Given the description of an element on the screen output the (x, y) to click on. 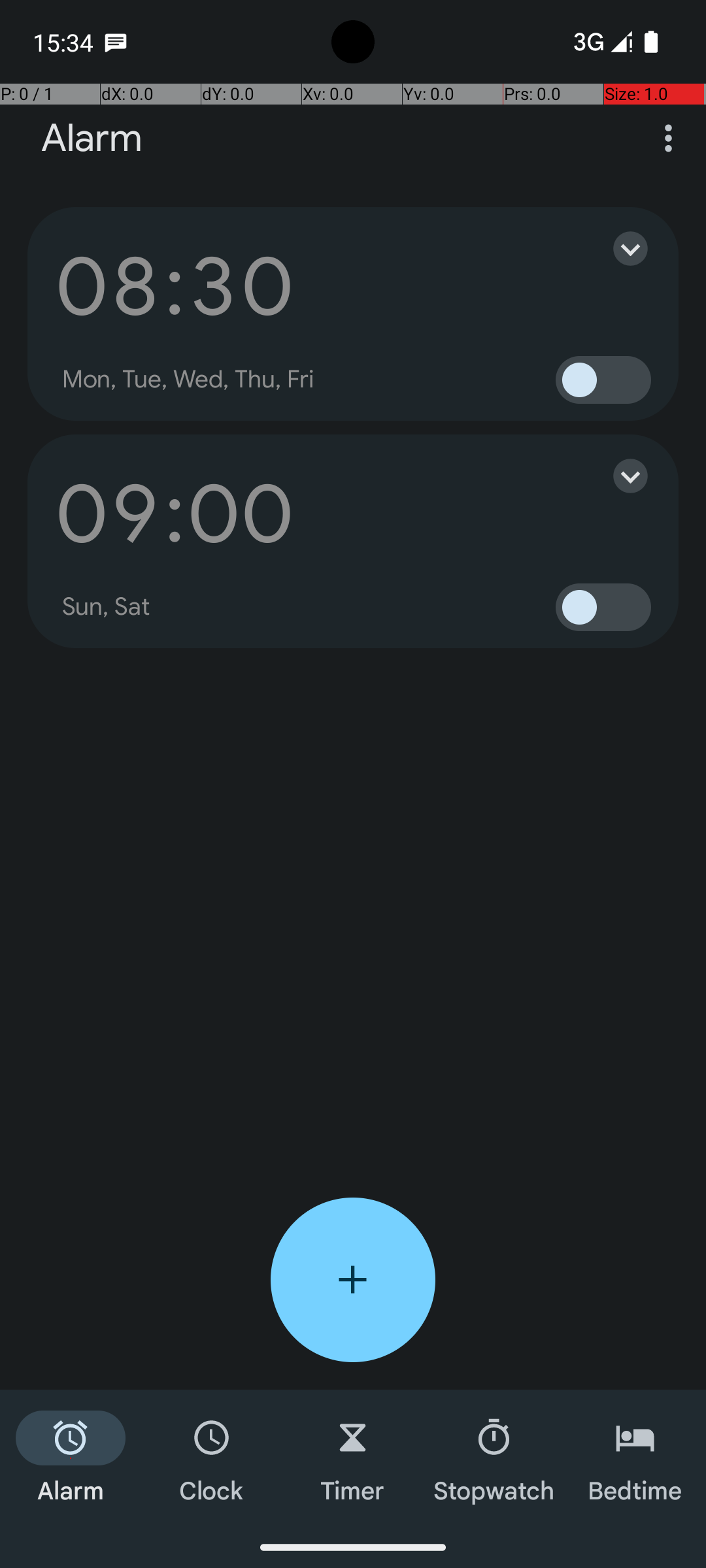
Alarm Element type: android.widget.TextView (91, 138)
Add alarm Element type: android.widget.Button (352, 1279)
08:30 Element type: android.widget.TextView (174, 286)
Expand alarm Element type: android.widget.ImageButton (616, 248)
Mon, Tue, Wed, Thu, Fri Element type: android.widget.TextView (187, 379)
09:00 Element type: android.widget.TextView (174, 513)
Sun, Sat Element type: android.widget.TextView (106, 606)
Clock Element type: android.widget.FrameLayout (211, 1457)
Timer Element type: android.widget.FrameLayout (352, 1457)
Stopwatch Element type: android.widget.FrameLayout (493, 1457)
Bedtime Element type: android.widget.FrameLayout (635, 1457)
SMS Messenger notification: Petar Gonzalez Element type: android.widget.ImageView (115, 41)
